Given the description of an element on the screen output the (x, y) to click on. 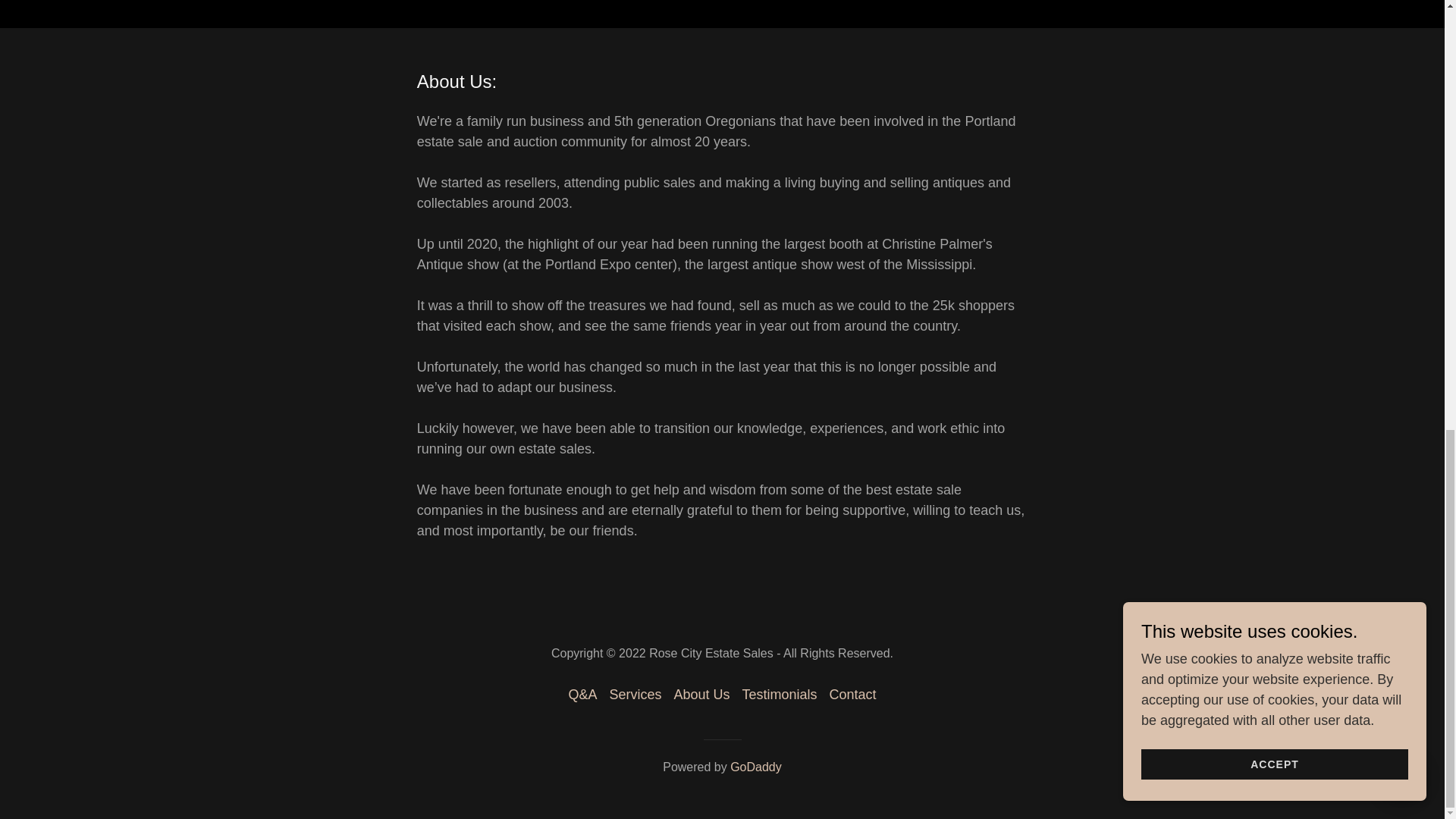
GoDaddy (755, 766)
About Us (700, 694)
Testimonials (778, 694)
Contact (853, 694)
Services (634, 694)
